Given the description of an element on the screen output the (x, y) to click on. 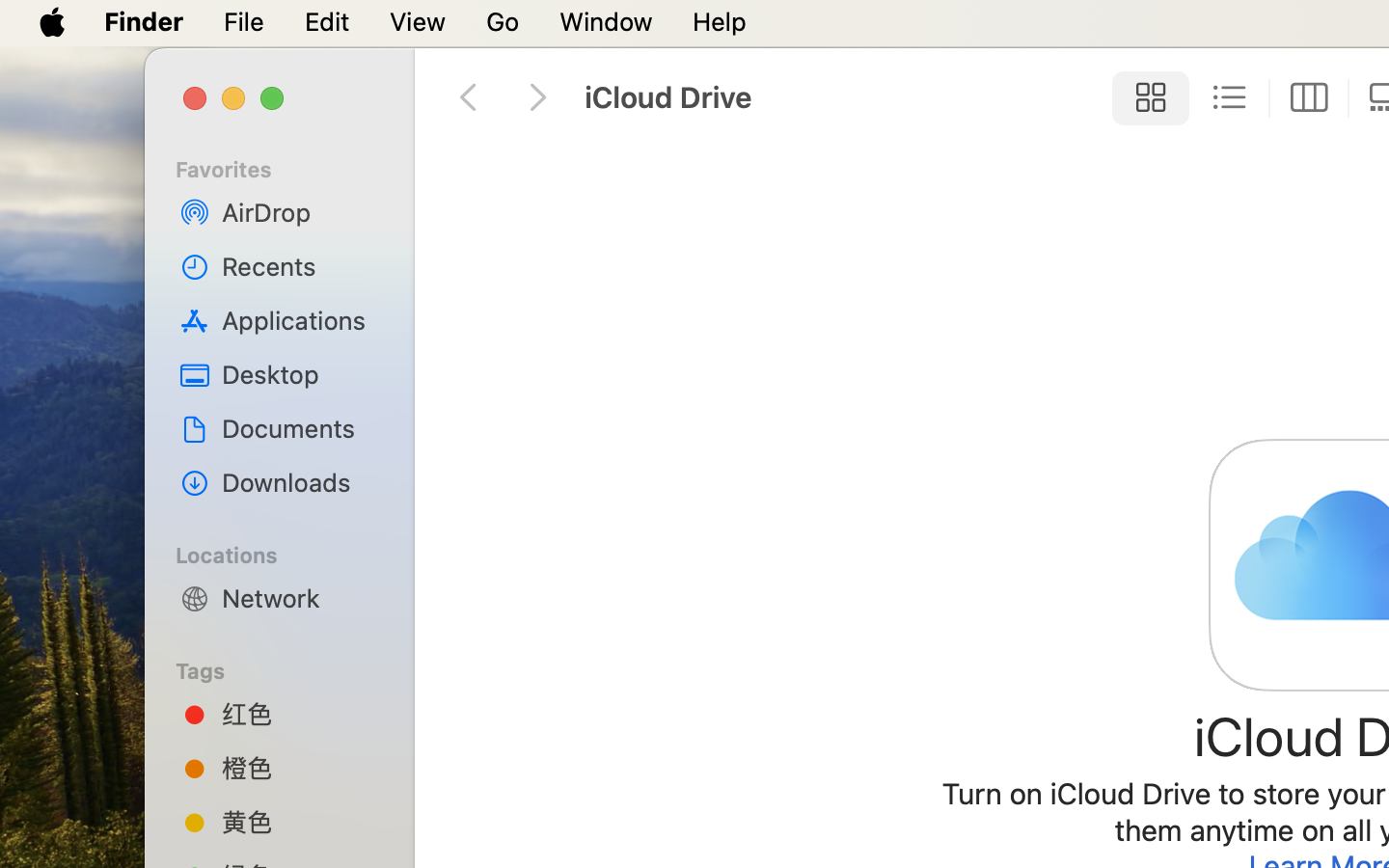
1 Element type: AXRadioButton (1144, 97)
Tags Element type: AXStaticText (289, 668)
橙色 Element type: AXStaticText (299, 767)
0 Element type: AXRadioButton (1308, 97)
Desktop Element type: AXStaticText (299, 373)
